Given the description of an element on the screen output the (x, y) to click on. 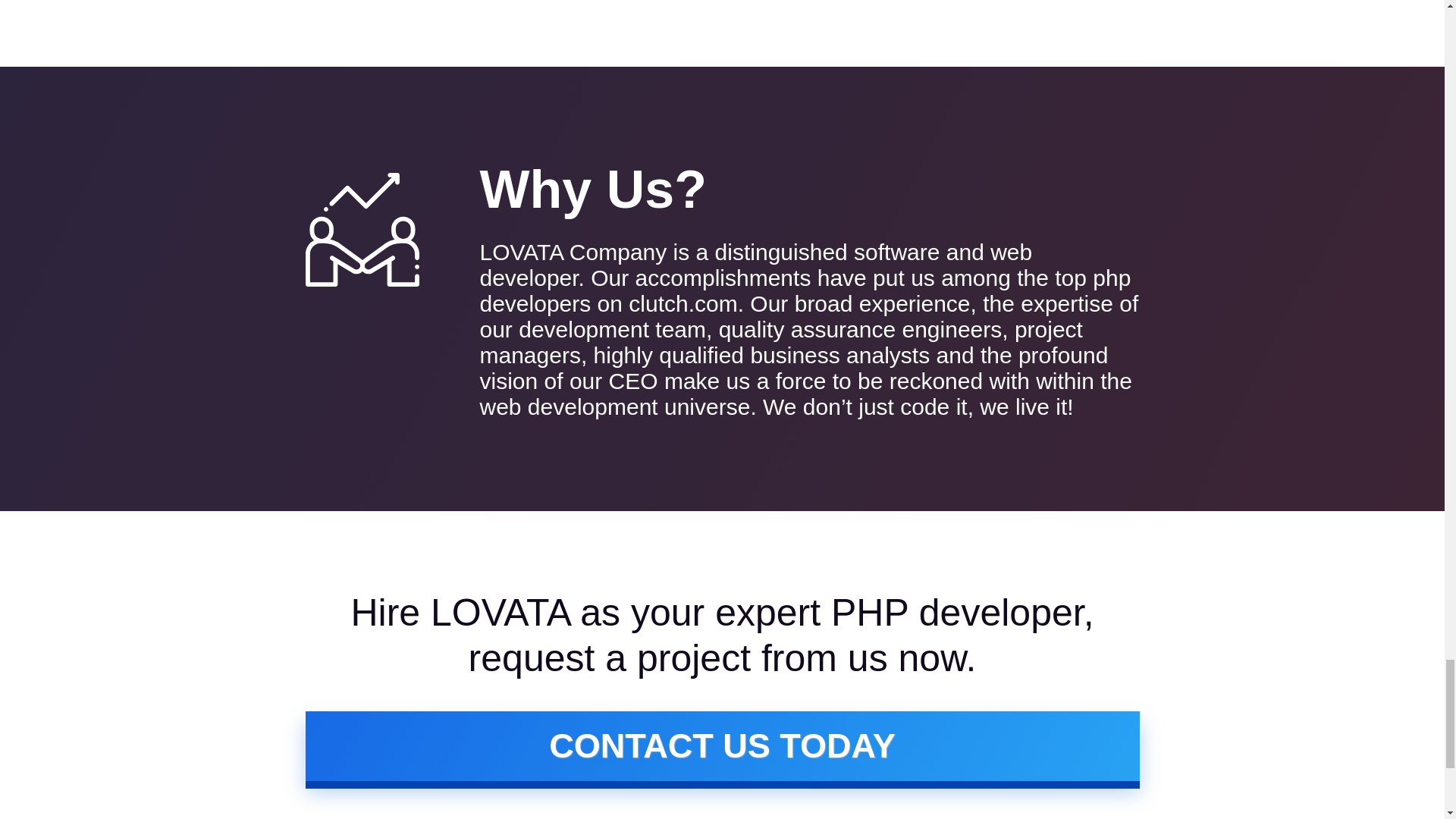
CONTACT US TODAY (721, 746)
